Given the description of an element on the screen output the (x, y) to click on. 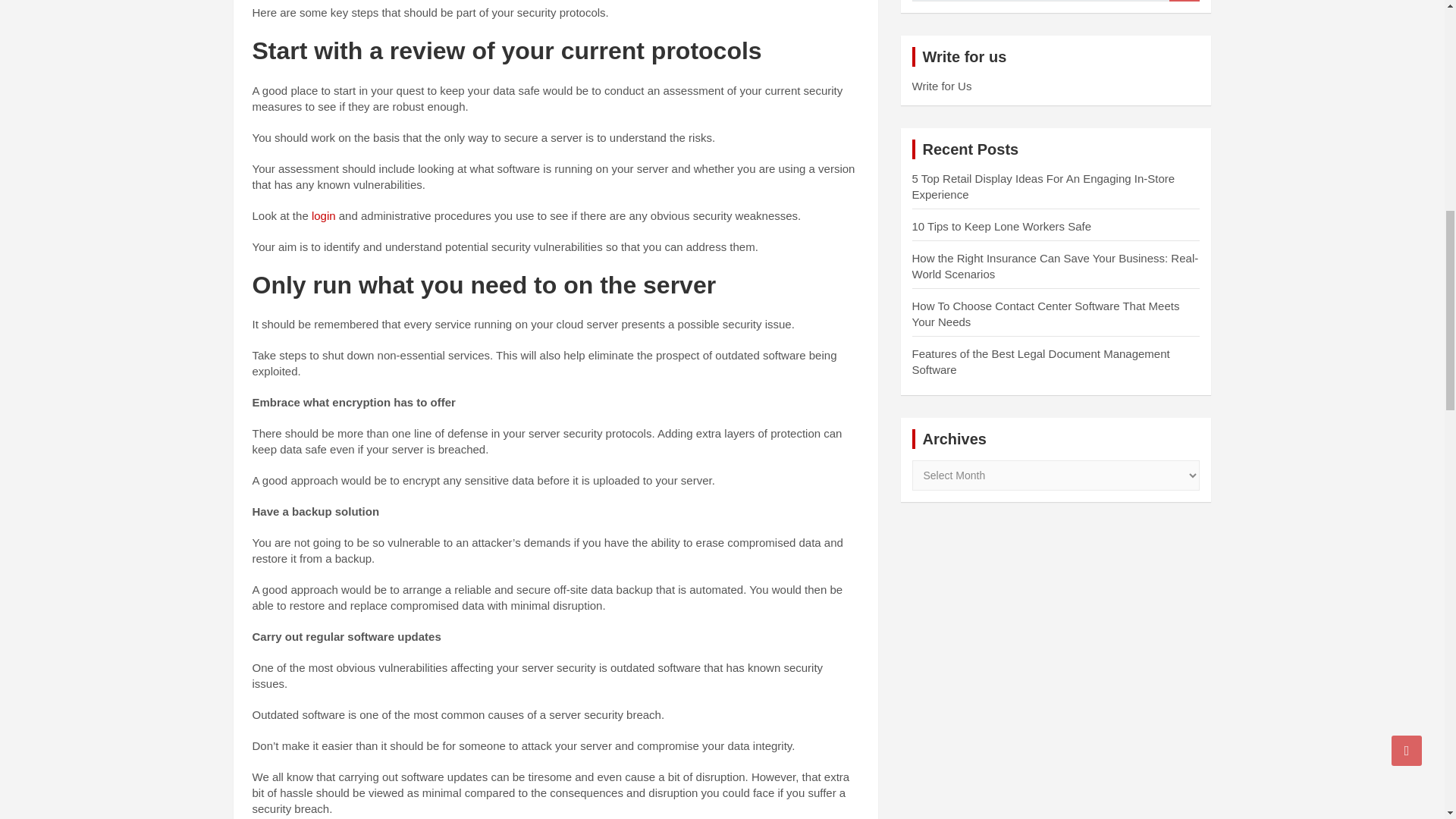
login (323, 215)
